Given the description of an element on the screen output the (x, y) to click on. 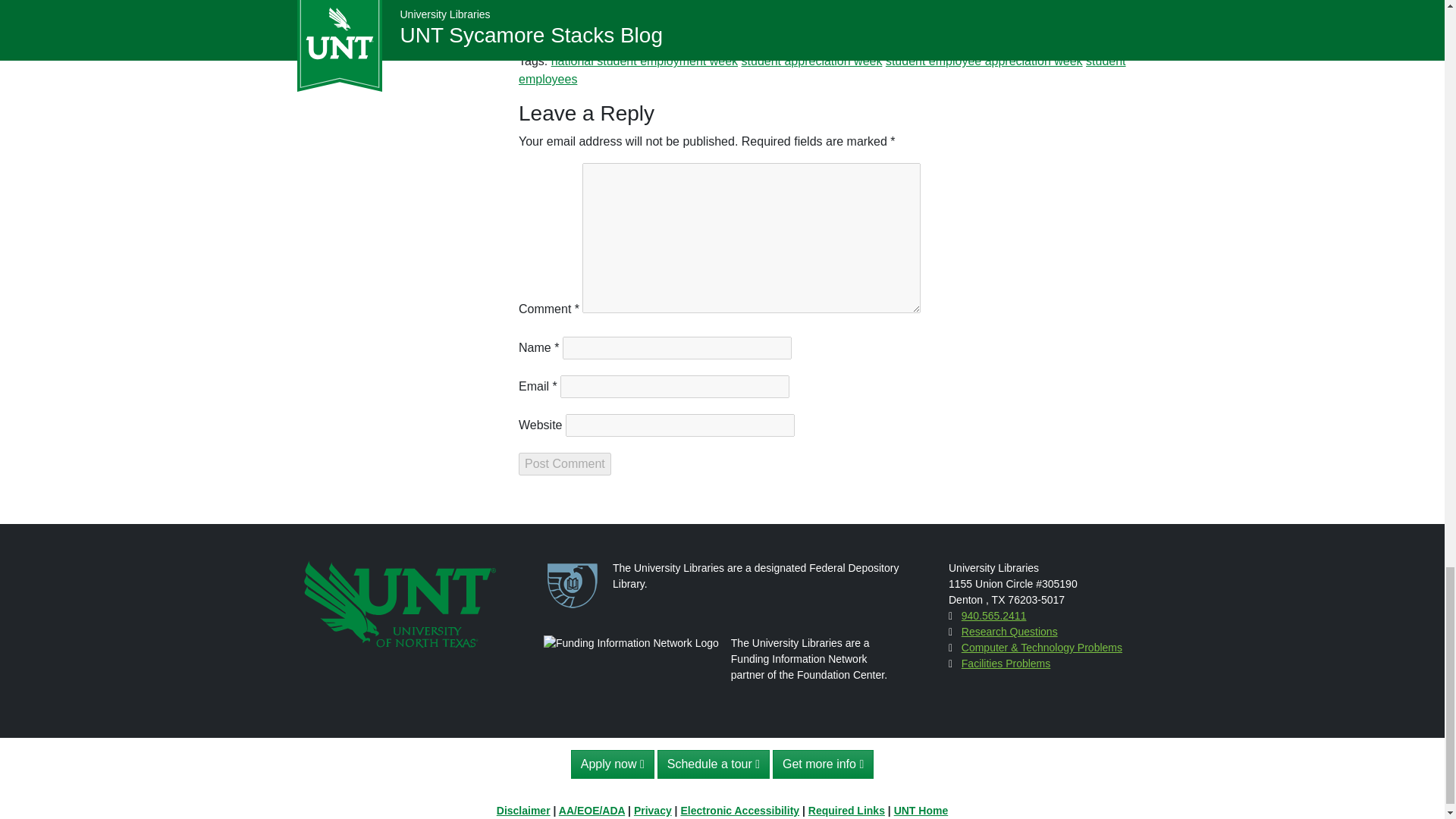
student employee appreciation week (984, 60)
national student employment week (644, 60)
Bobby (680, 30)
UNT Libraries External Relations Office (866, 3)
student appreciation week (811, 60)
Posts by Bobby (680, 30)
Post Comment (564, 463)
Local Doings (894, 30)
student employees (821, 69)
Special Days (971, 30)
Inside the ECL (812, 30)
Post Comment (564, 463)
